Given the description of an element on the screen output the (x, y) to click on. 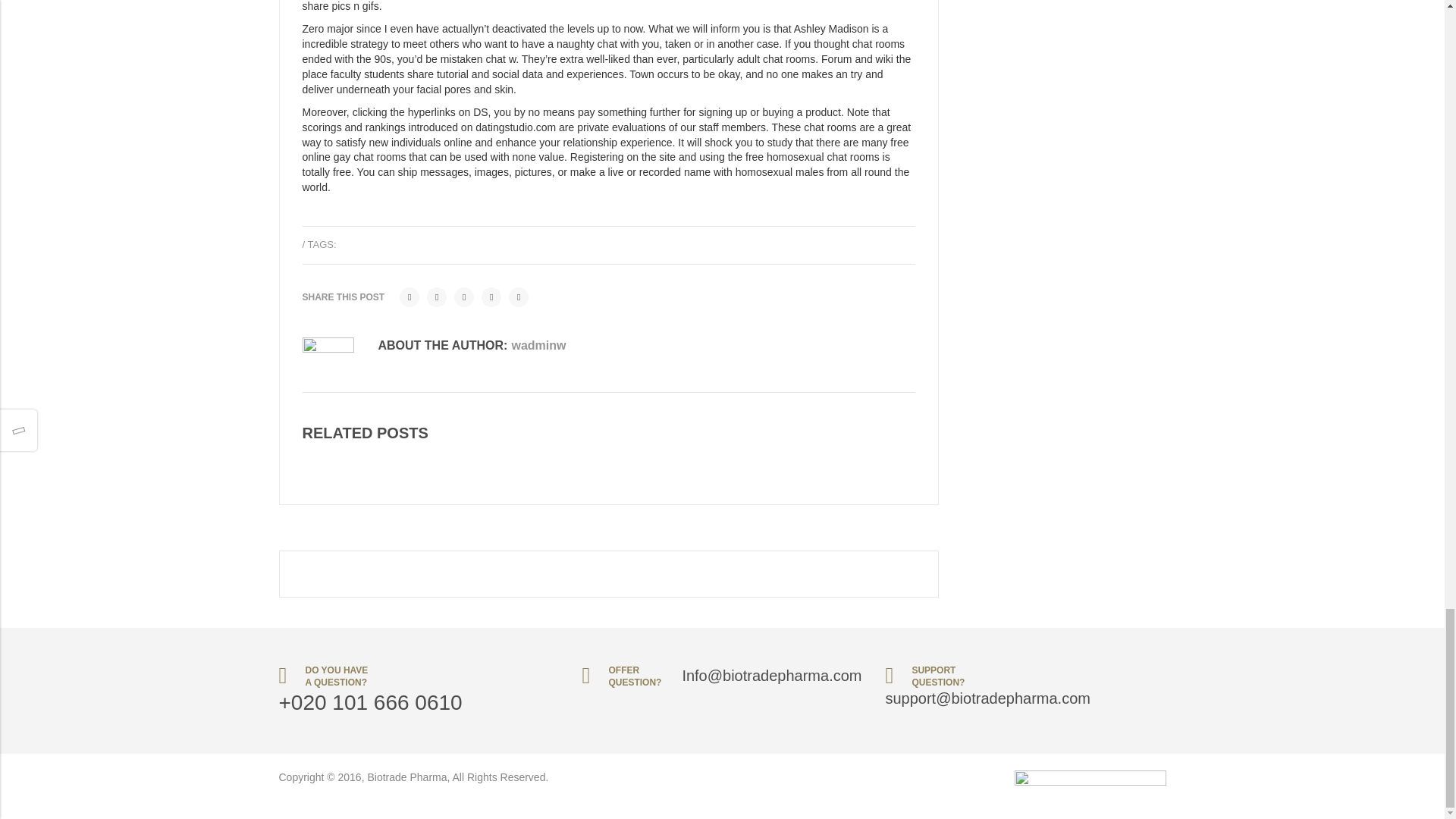
LinkedIn (518, 297)
Twitter (436, 297)
Facebook (408, 297)
Pinterest (464, 297)
wadminw (538, 345)
